Given the description of an element on the screen output the (x, y) to click on. 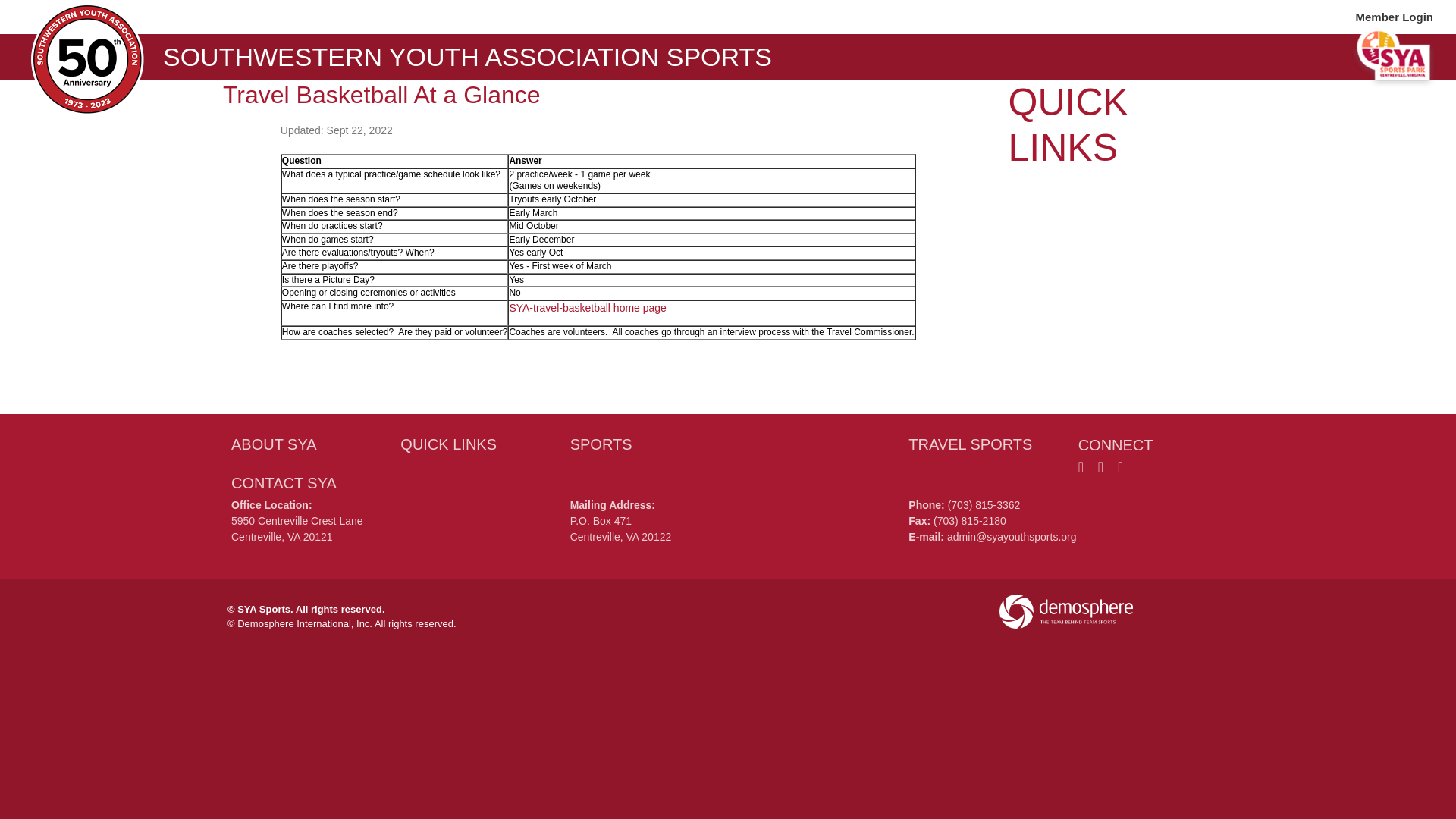
Member Login (1393, 16)
Demosphere International, Inc. (304, 623)
Travel Basketball At a Glance (381, 94)
SYA-travel-basketball home page (587, 307)
